Given the description of an element on the screen output the (x, y) to click on. 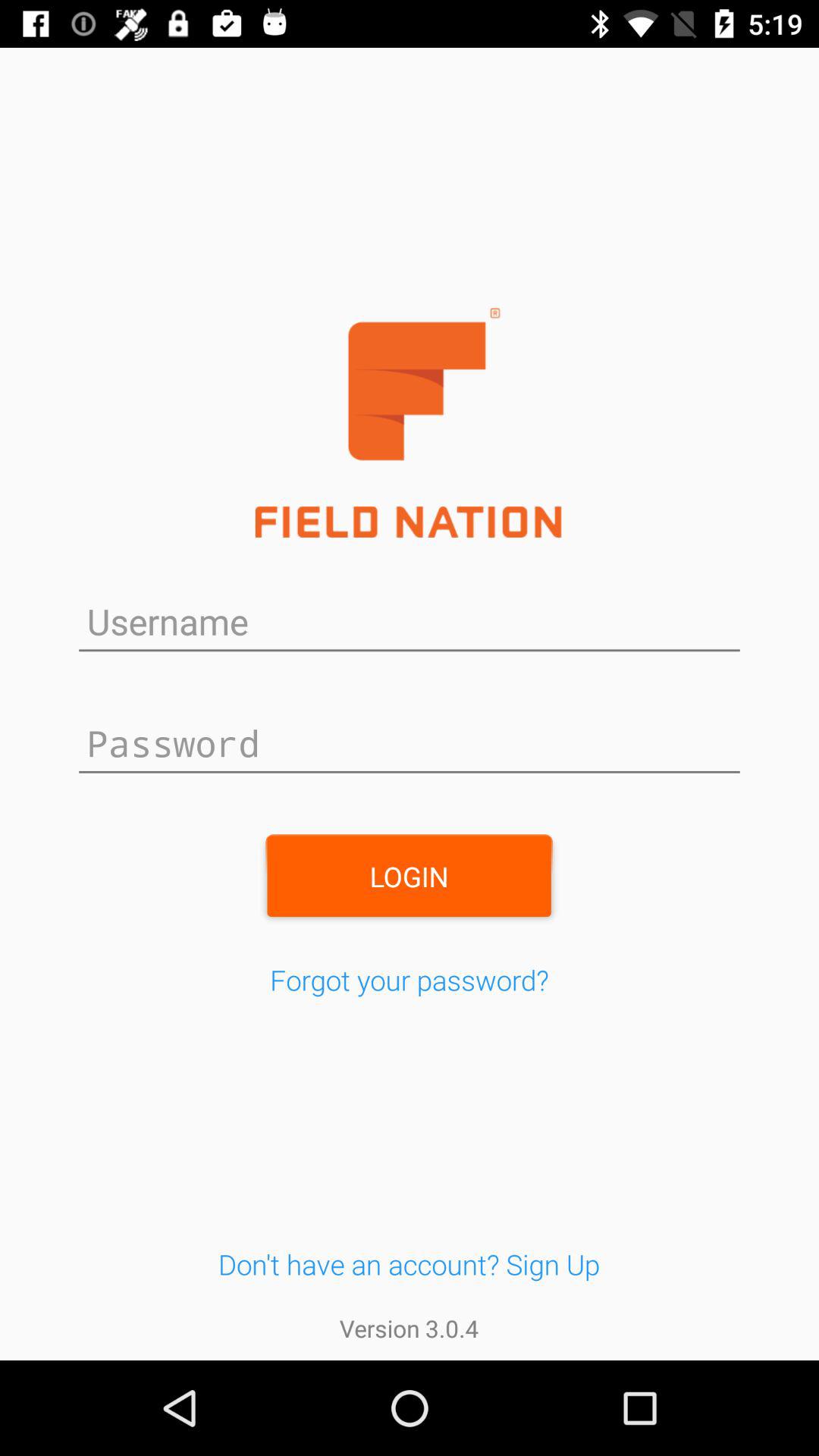
scroll to the don t have icon (408, 1264)
